Given the description of an element on the screen output the (x, y) to click on. 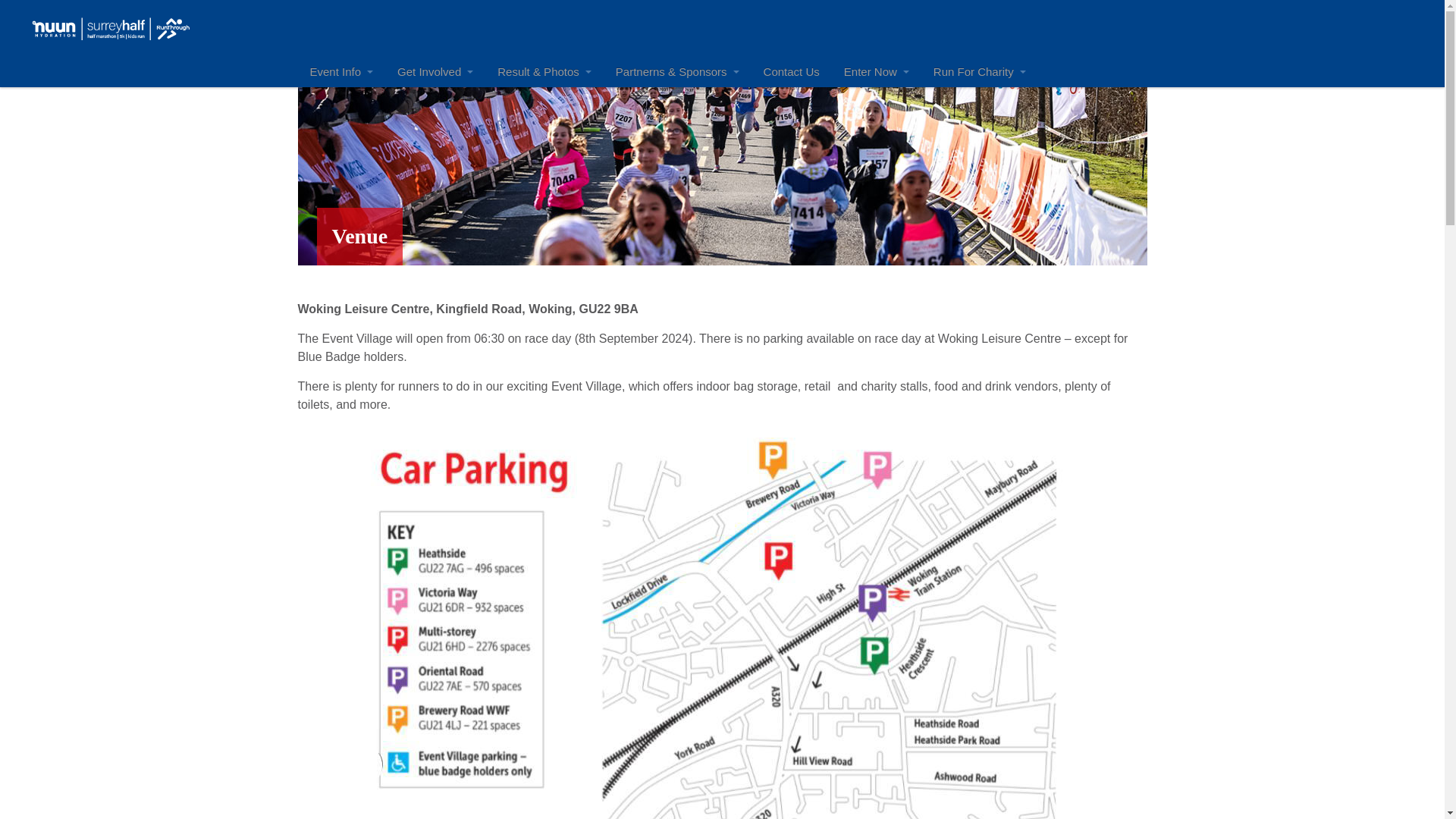
Enter Now (876, 71)
Event Info (341, 71)
Contact Us (791, 71)
Run For Charity (979, 71)
Get Involved (434, 71)
